Given the description of an element on the screen output the (x, y) to click on. 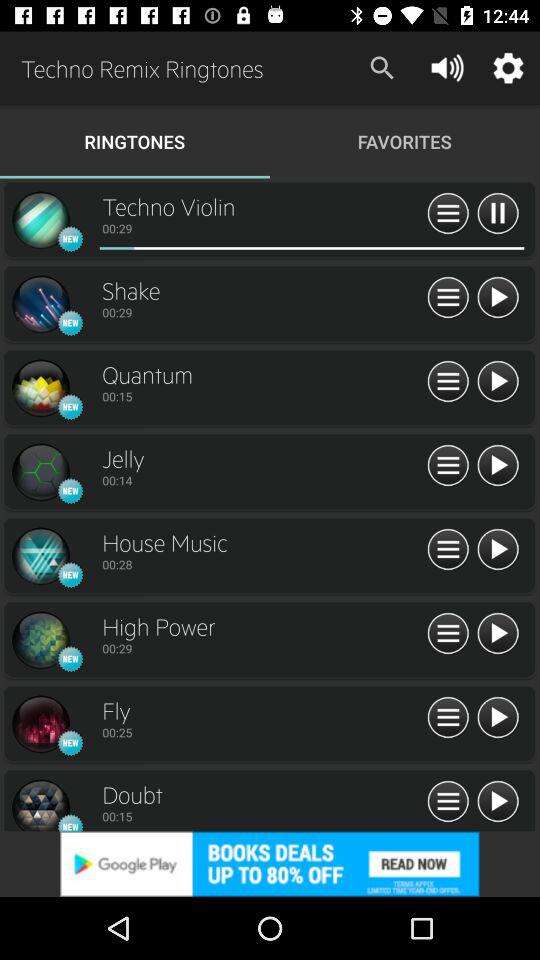
play (497, 801)
